Given the description of an element on the screen output the (x, y) to click on. 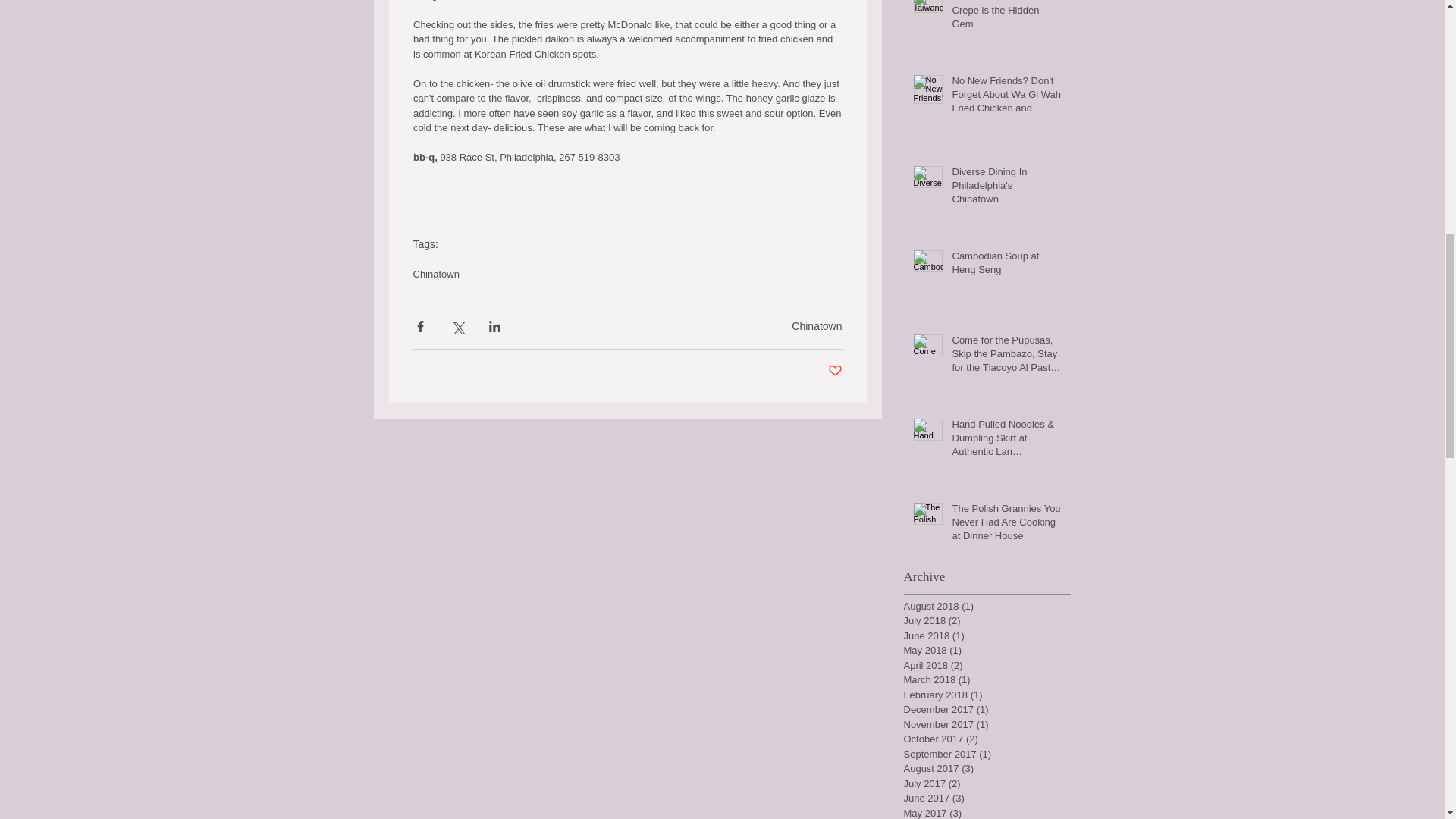
Taiwanese Breakfast Crepe is the Hidden Gem (1006, 18)
Chinatown (435, 274)
Diverse Dining In Philadelphia's Chinatown (1006, 188)
Chinatown (816, 326)
Cambodian Soup at Heng Seng (1006, 265)
Post not marked as liked (835, 371)
